Given the description of an element on the screen output the (x, y) to click on. 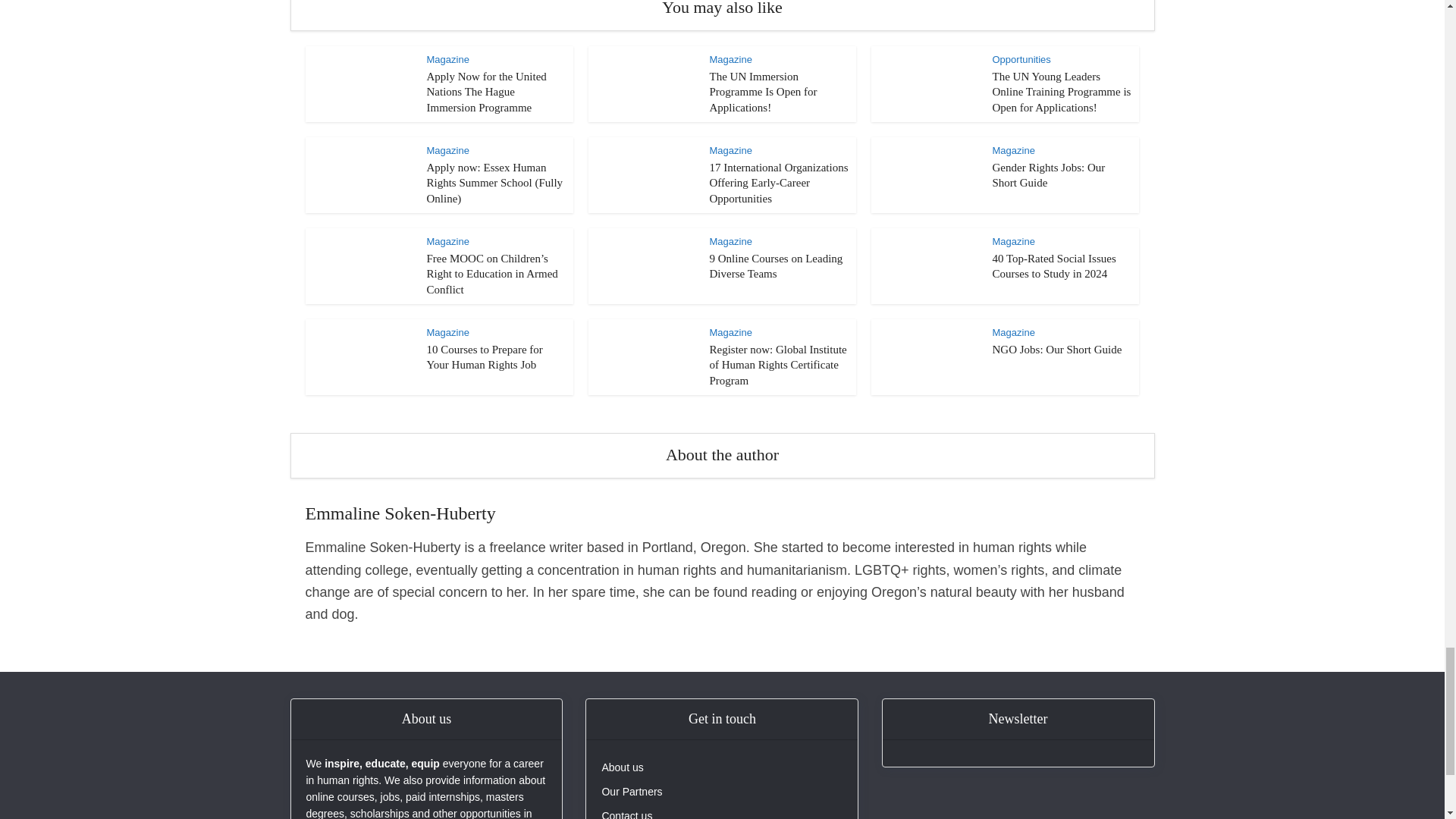
The UN Immersion Programme Is Open for Applications! (763, 91)
Gender Rights Jobs: Our Short Guide (1048, 175)
